Given the description of an element on the screen output the (x, y) to click on. 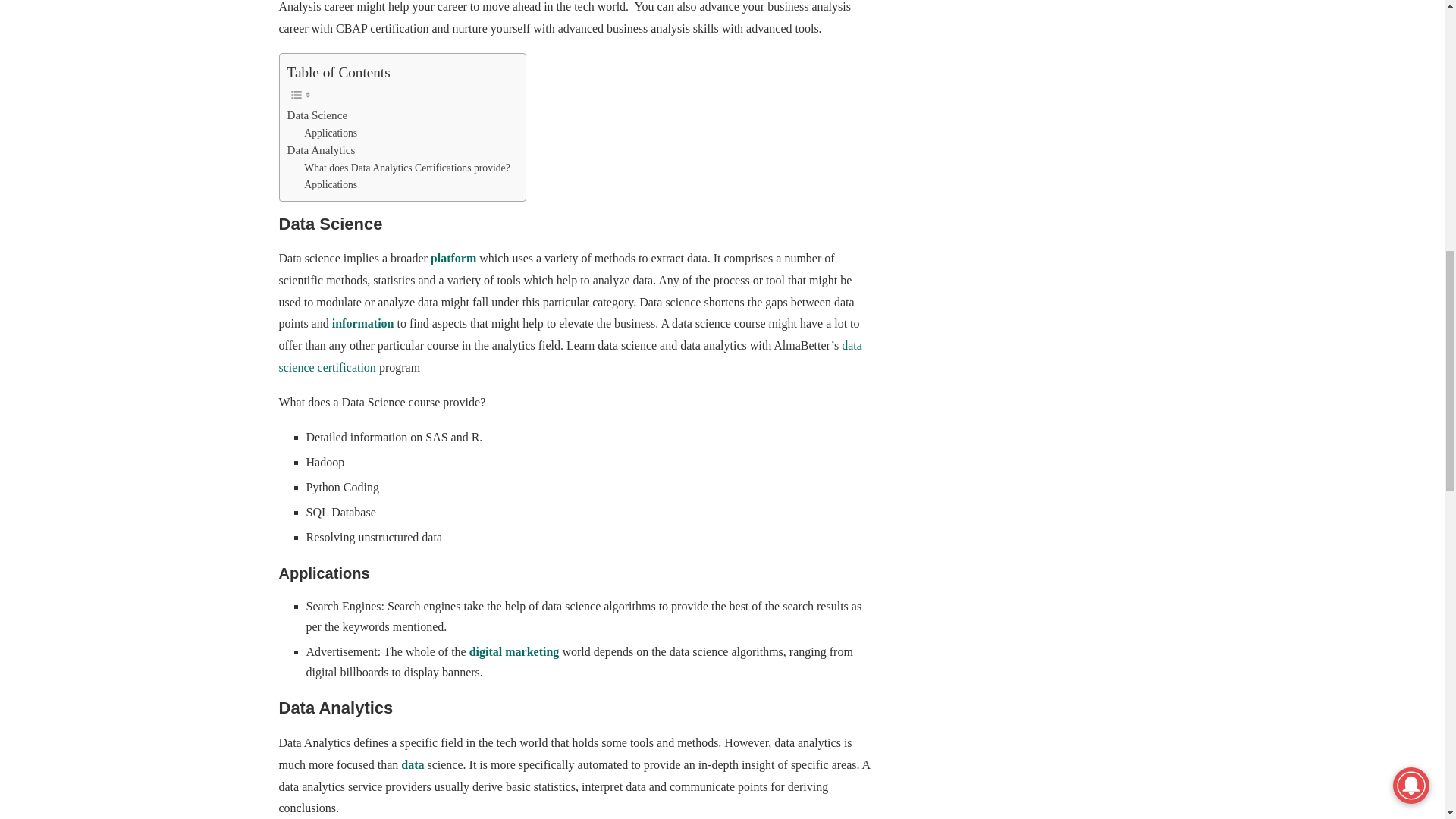
Applications (330, 133)
Applications (330, 184)
What does Data Analytics Certifications provide? (406, 167)
Data Analytics (320, 149)
Data Science (316, 115)
